Given the description of an element on the screen output the (x, y) to click on. 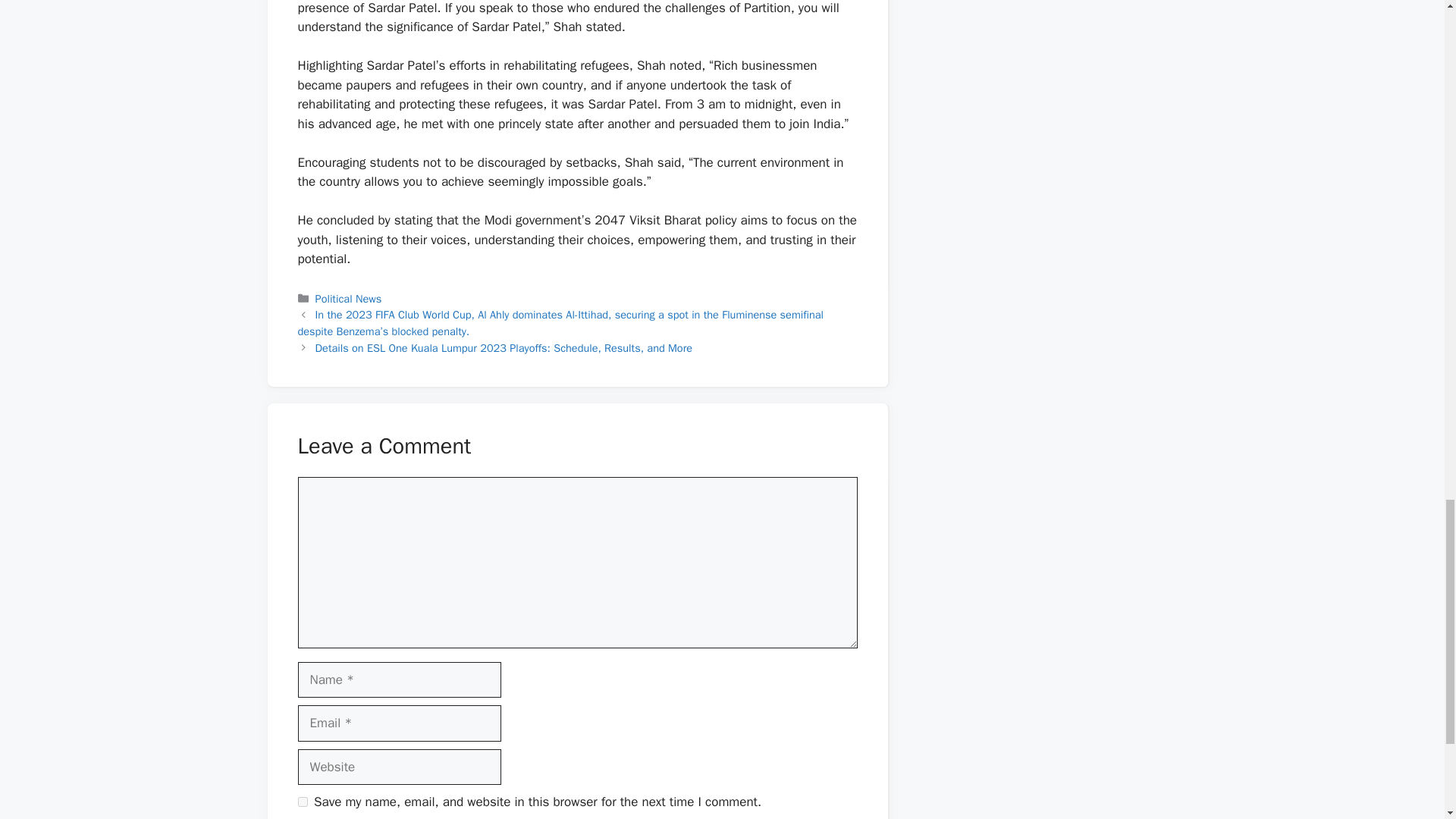
yes (302, 801)
Political News (348, 298)
